Given the description of an element on the screen output the (x, y) to click on. 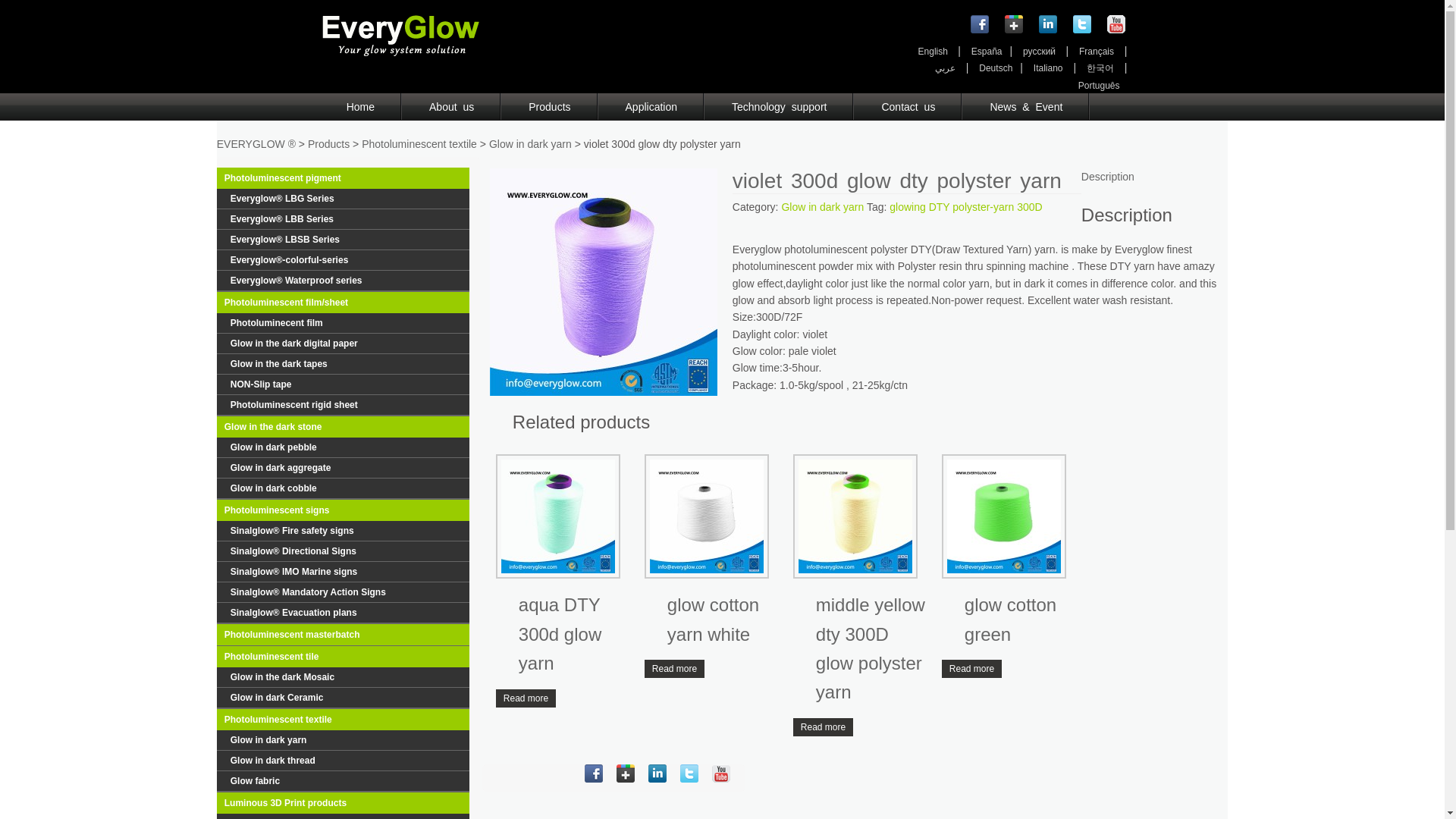
Deutsch (995, 68)
English (934, 50)
About us (450, 106)
Products (548, 106)
Go to the Glow in dark yarn Category archives. (530, 143)
Skip to content (65, 106)
Go to Products. (328, 143)
Italiano (1048, 68)
Skip to content (65, 106)
violet 300d dty polyster yarn (603, 281)
